Given the description of an element on the screen output the (x, y) to click on. 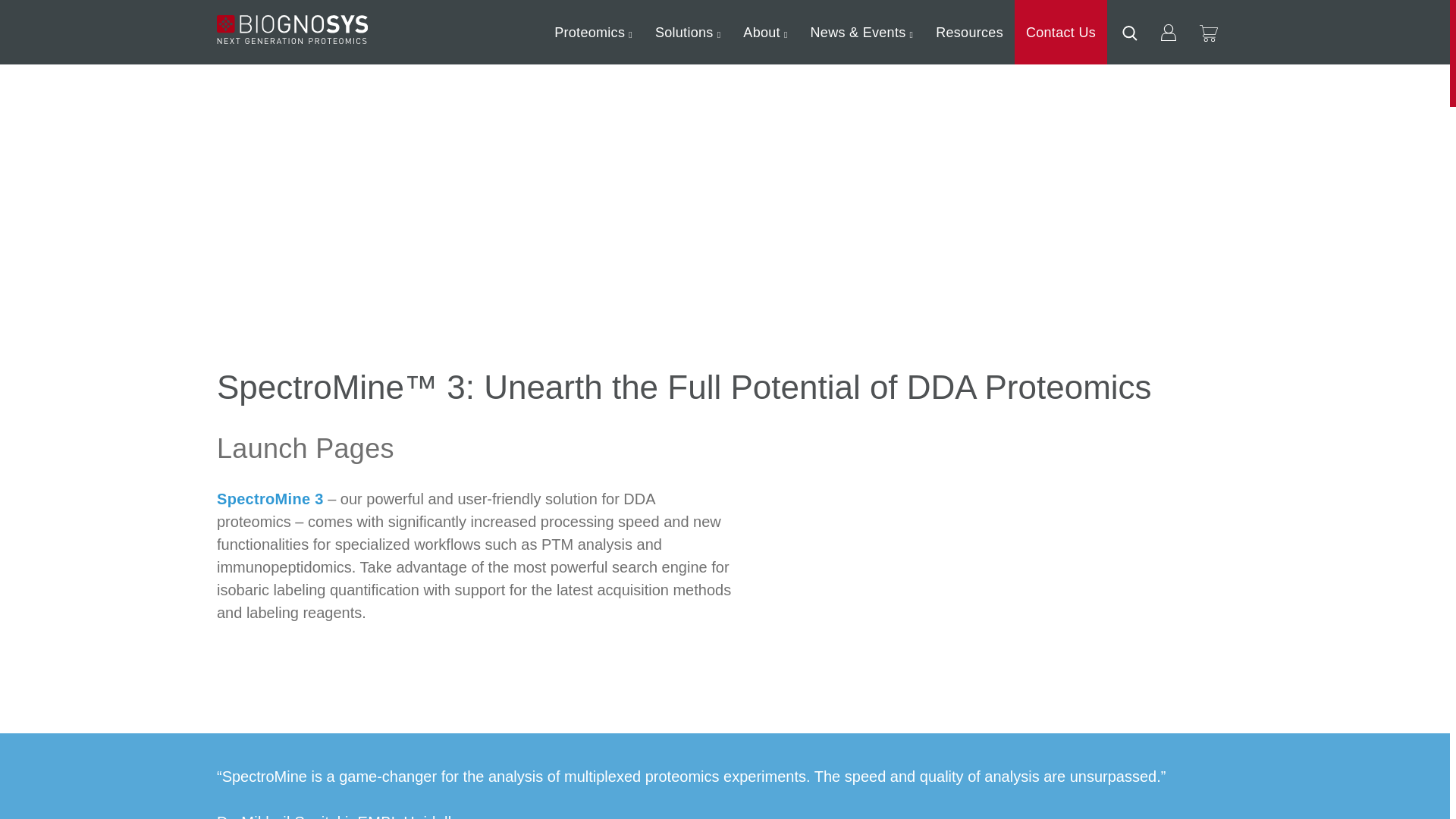
Proteomics (593, 33)
Solutions (687, 33)
